Given the description of an element on the screen output the (x, y) to click on. 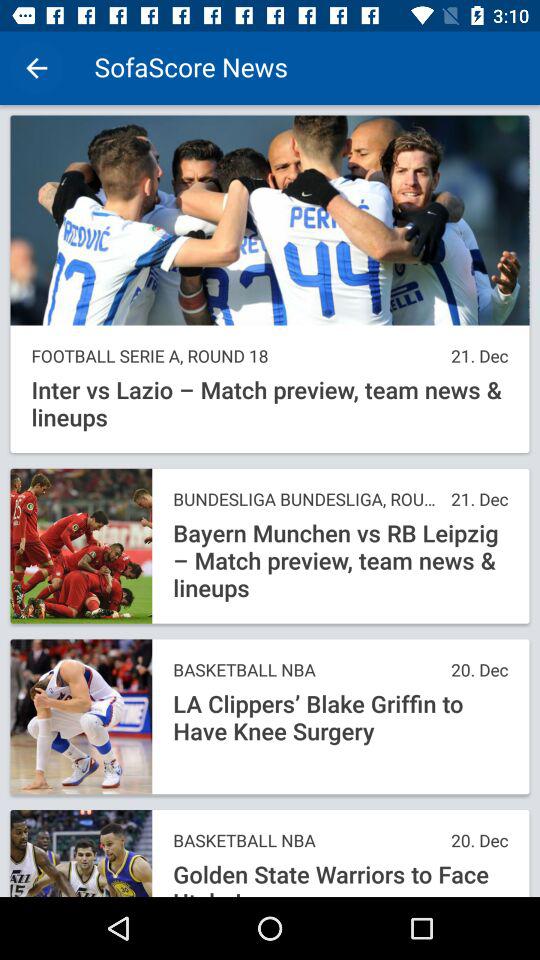
press item next to the 21. dec (235, 356)
